Given the description of an element on the screen output the (x, y) to click on. 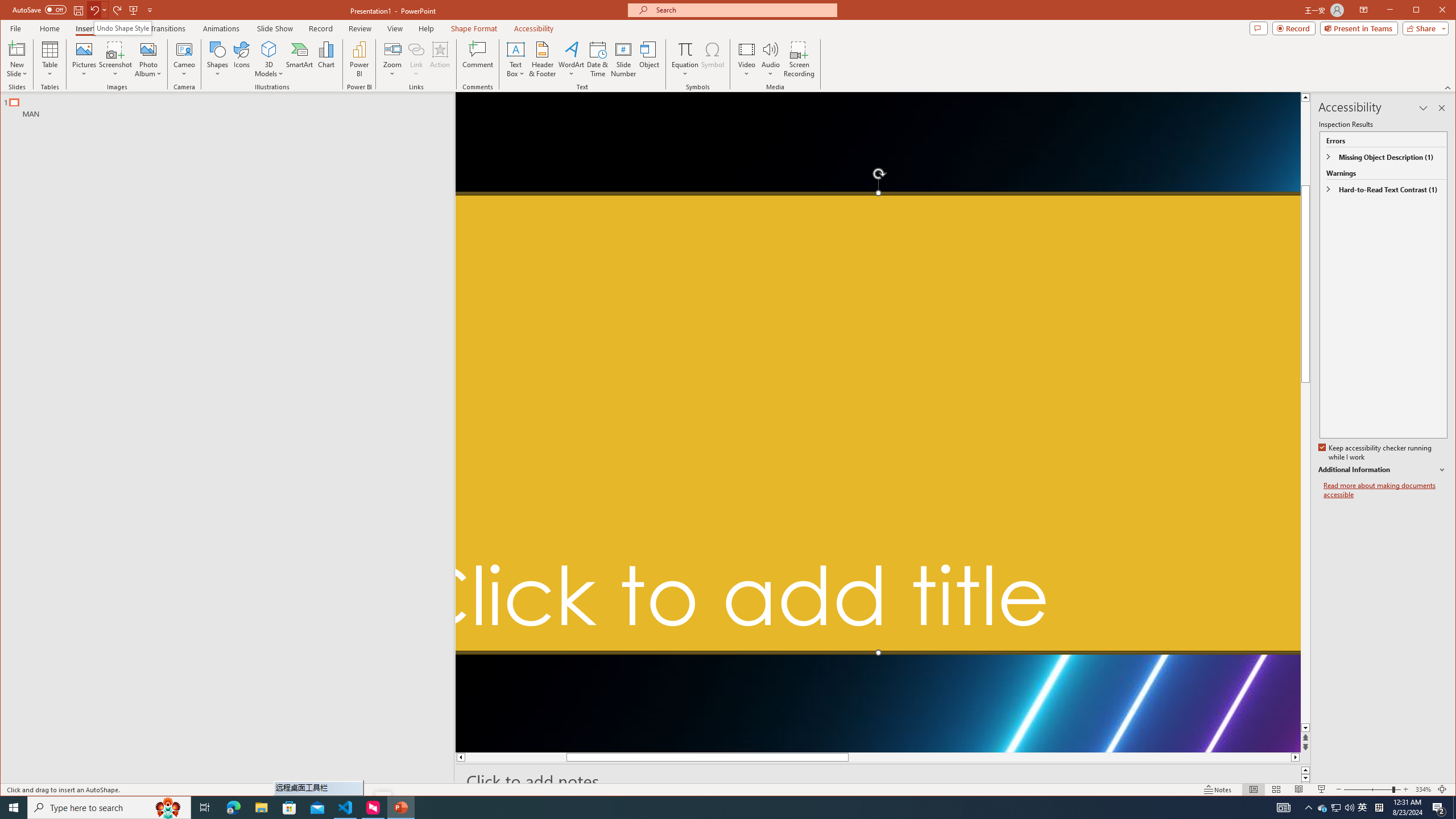
Object... (649, 59)
Ribbon Display Options (1364, 9)
File Tab (15, 27)
Task View (204, 807)
Zoom 334% (1422, 789)
New Photo Album... (148, 48)
Screenshot (115, 59)
Show desktop (1454, 807)
Reading View (1298, 789)
Customize Quick Access Toolbar (150, 9)
PowerPoint - 1 running window (400, 807)
